Given the description of an element on the screen output the (x, y) to click on. 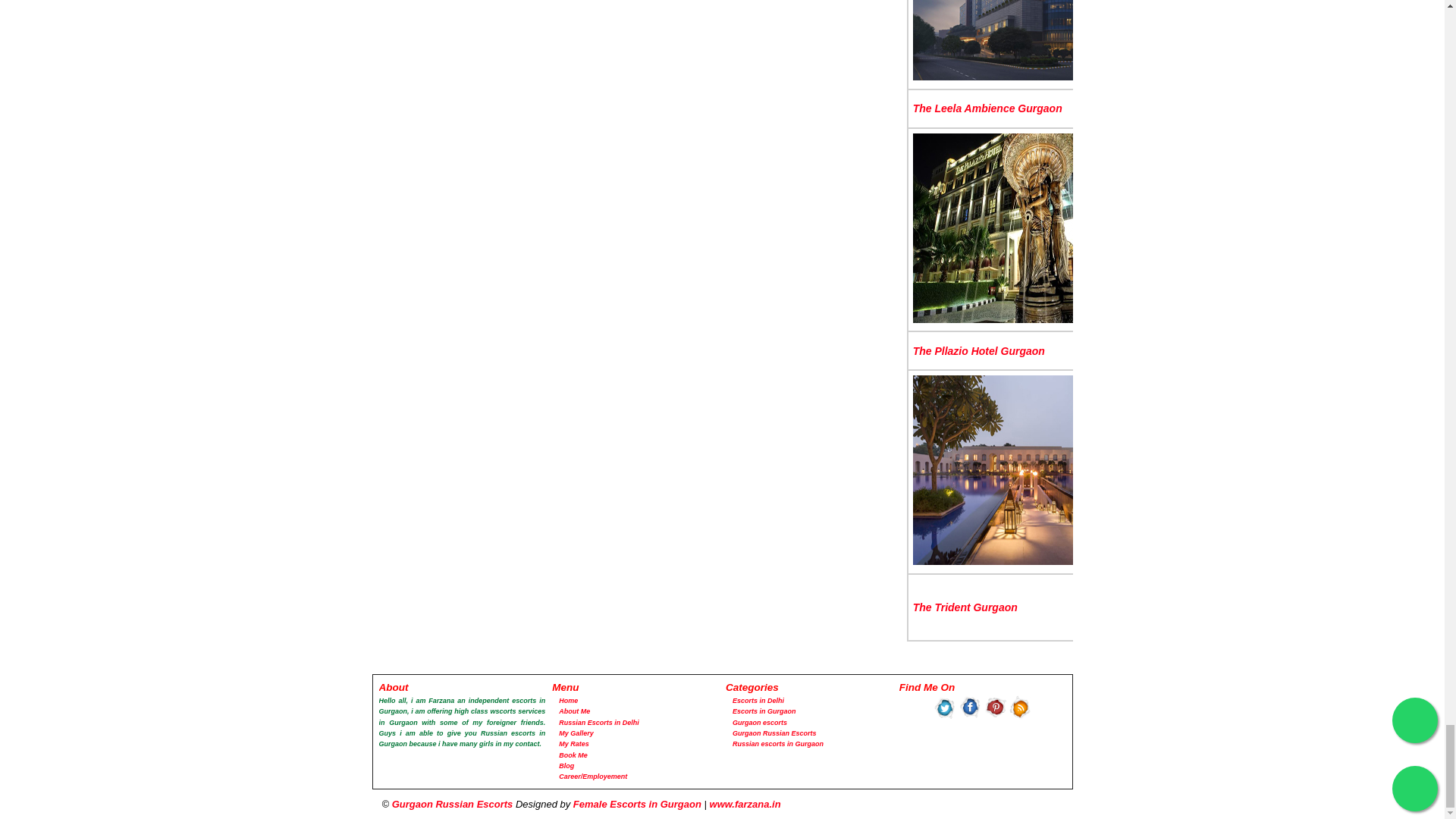
Visit Us On Pinterest (994, 717)
Check Our Feed (1019, 717)
Visit Us On Twitter (945, 717)
Visit Us On Facebook (970, 717)
